Given the description of an element on the screen output the (x, y) to click on. 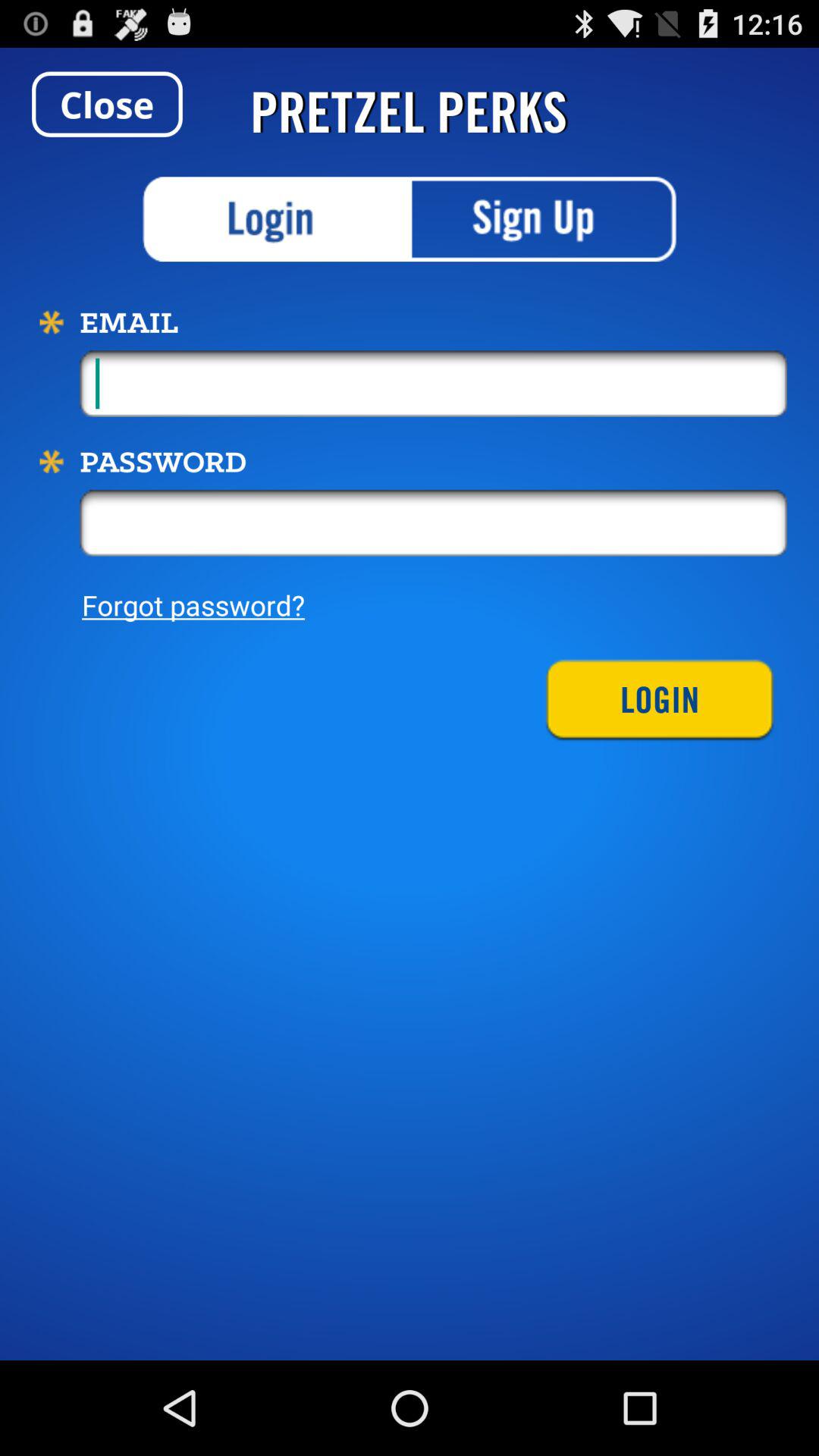
sign up (543, 218)
